Given the description of an element on the screen output the (x, y) to click on. 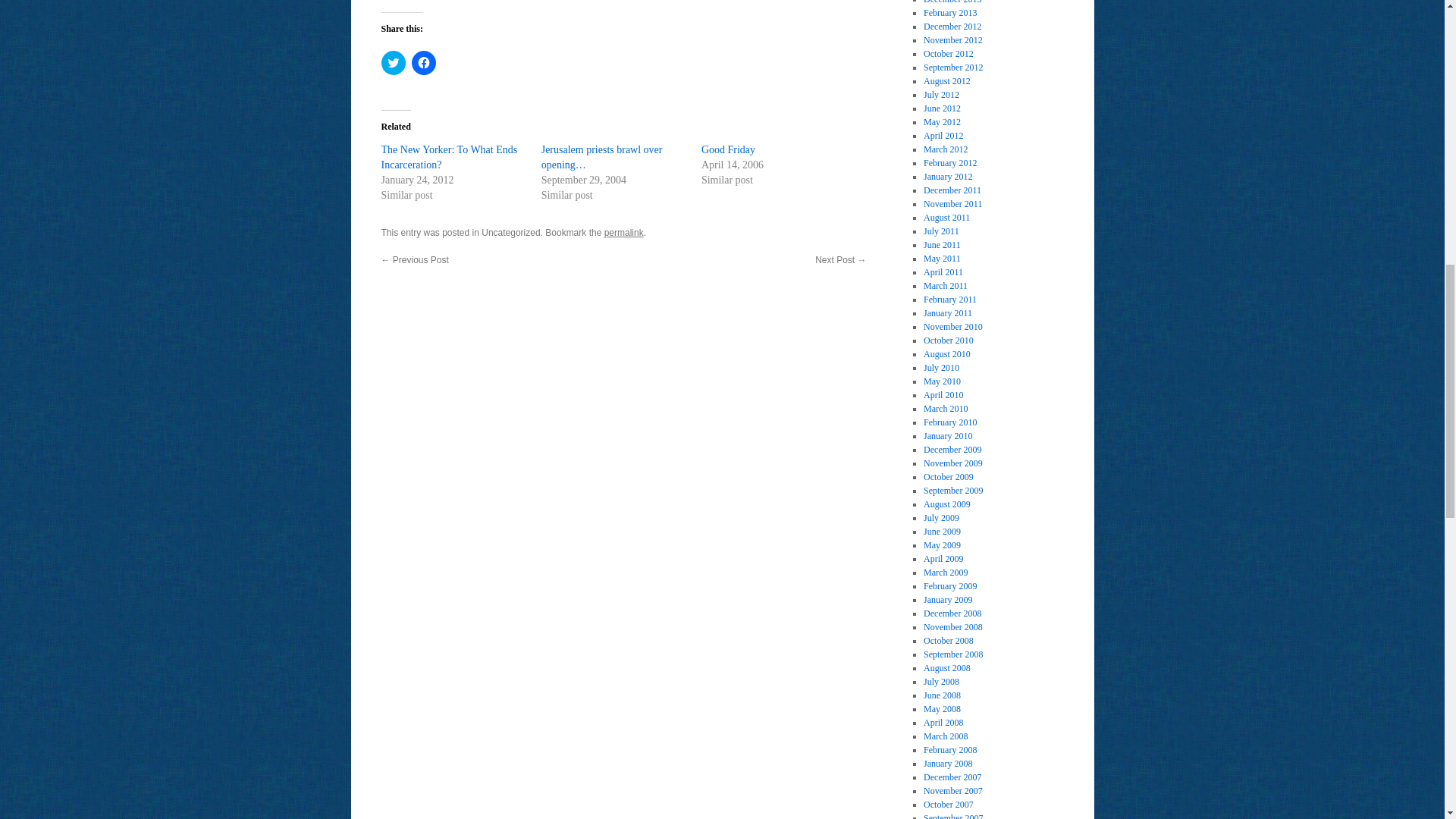
Click to share on Facebook (422, 62)
The New Yorker: To What Ends Incarceration? (448, 157)
Good Friday (728, 149)
The New Yorker: To What Ends Incarceration? (448, 157)
Permalink to  (623, 232)
Click to share on Twitter (392, 62)
permalink (623, 232)
Good Friday (728, 149)
